Given the description of an element on the screen output the (x, y) to click on. 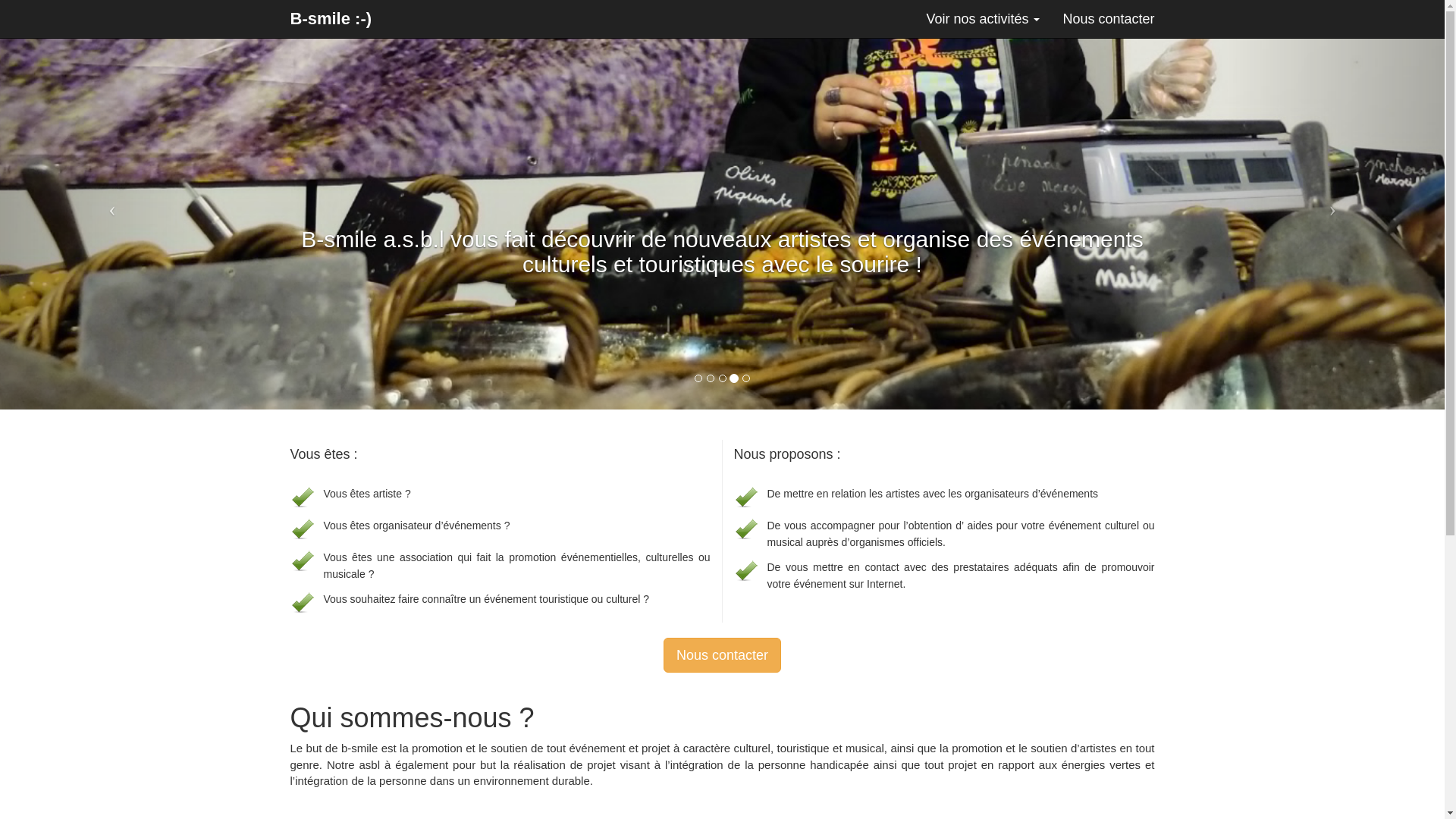
Nous contacter Element type: text (1108, 18)
B-smile :-) Element type: text (331, 18)
Nous contacter Element type: text (722, 654)
